Given the description of an element on the screen output the (x, y) to click on. 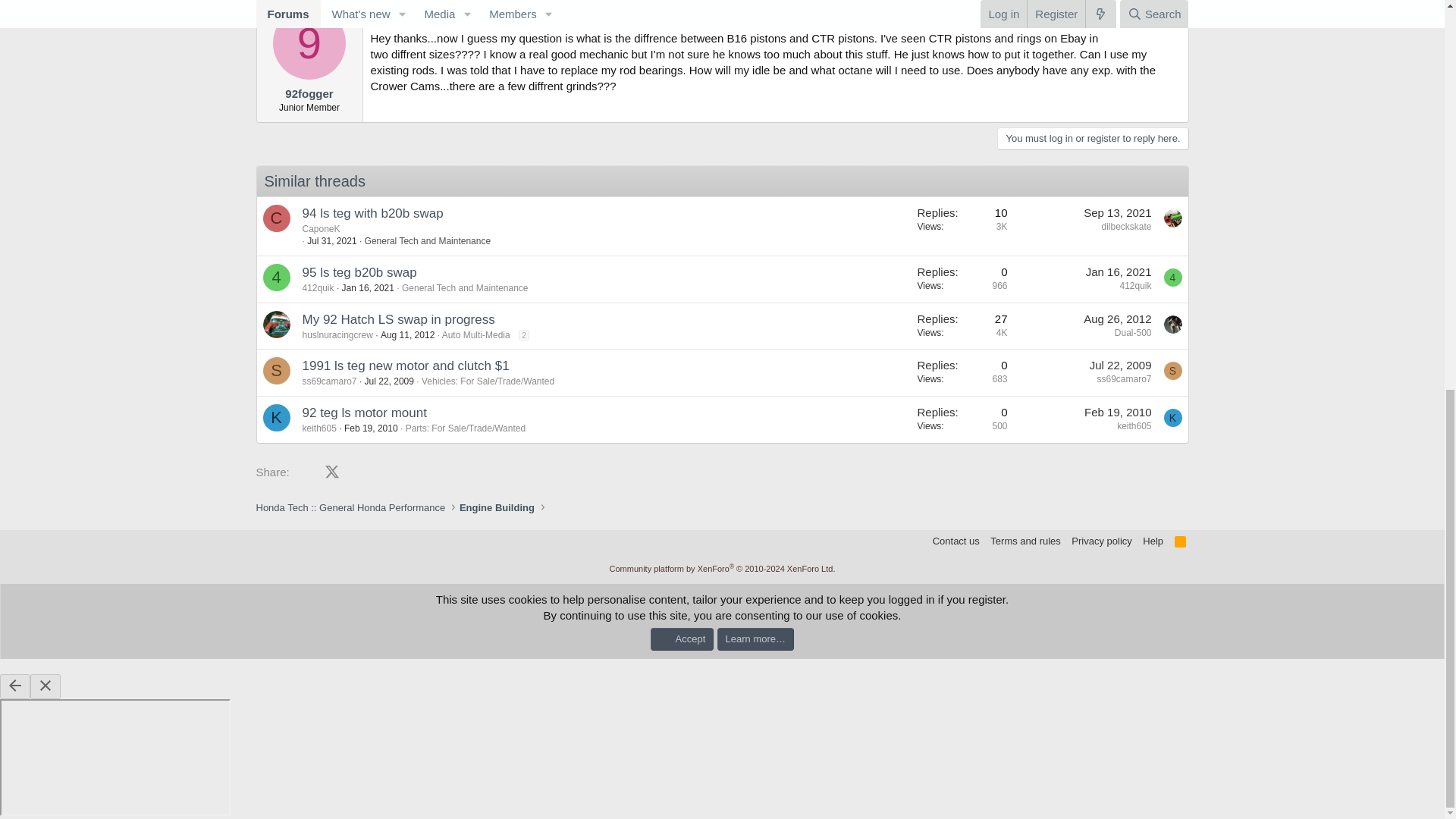
Jul 22, 2009 at 2:08 PM (1120, 364)
Aug 11, 2012 at 8:11 PM (406, 335)
Sep 13, 2021 at 11:31 AM (1117, 212)
First message reaction score: 0 (962, 372)
First message reaction score: 0 (962, 279)
Jan 16, 2021 at 12:34 PM (1118, 271)
Dec 31, 2002 at 8:17 AM (396, 12)
First message reaction score: 0 (962, 226)
Jul 22, 2009 at 2:08 PM (389, 380)
Aug 26, 2012 at 6:33 PM (1117, 318)
Jan 16, 2021 at 12:34 PM (368, 287)
Jul 31, 2021 at 5:16 PM (331, 240)
First message reaction score: 0 (962, 325)
